Given the description of an element on the screen output the (x, y) to click on. 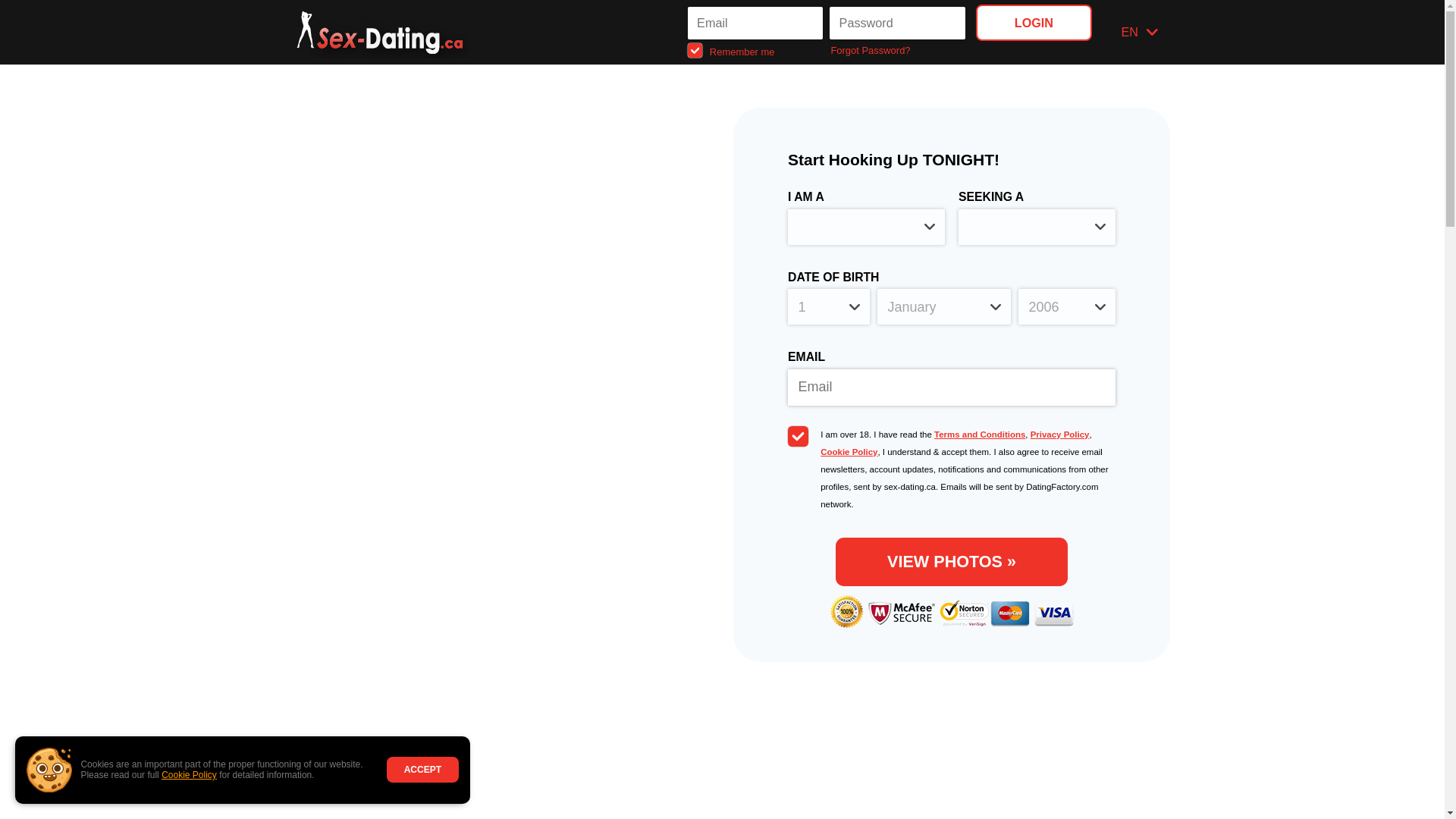
LOGIN (1032, 22)
Privacy Policy (1059, 433)
EN (1139, 32)
Cookie Policy (849, 451)
Terms and Conditions (979, 433)
Forgot Password? (897, 50)
Cookie Policy (188, 774)
